Given the description of an element on the screen output the (x, y) to click on. 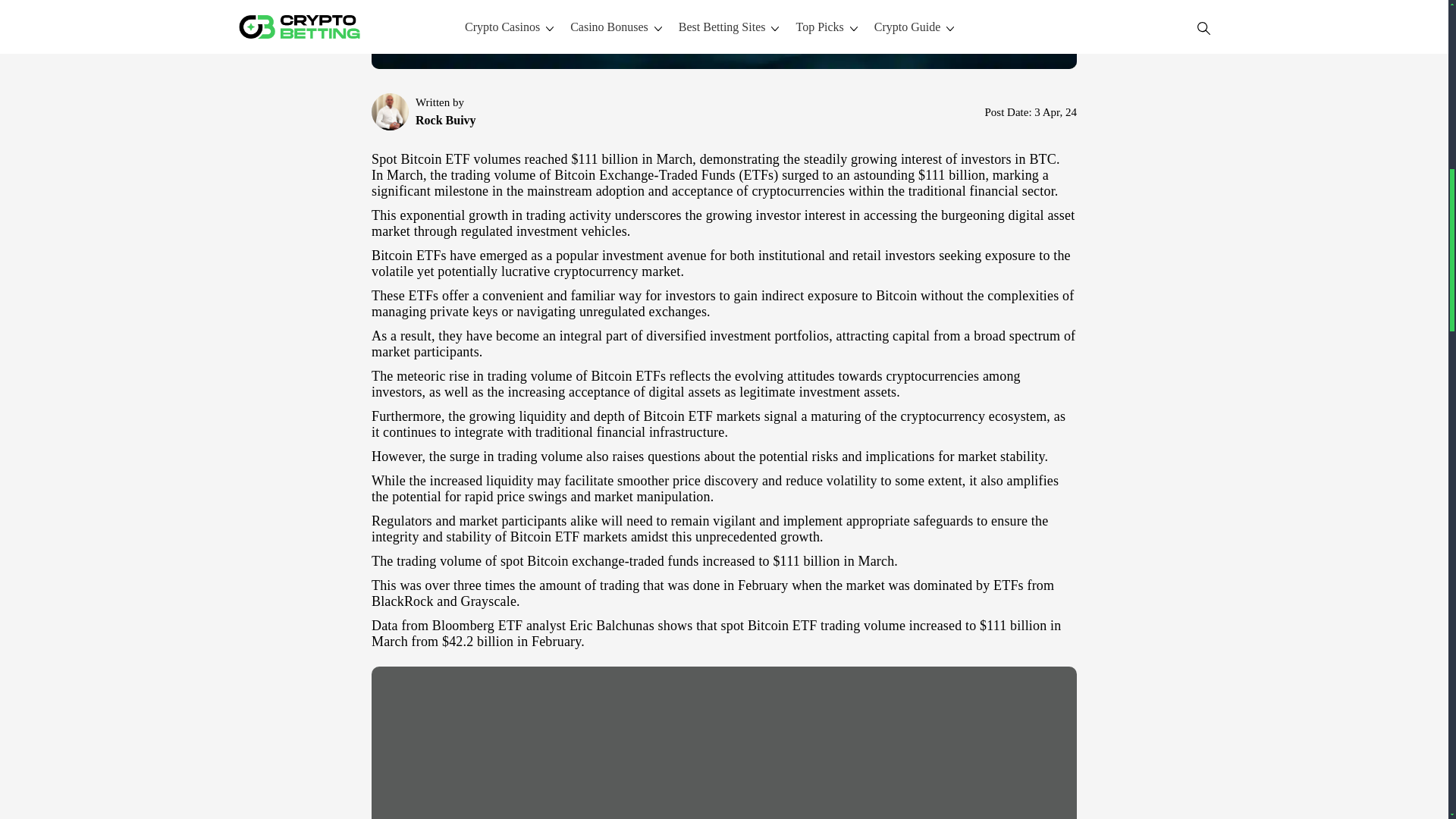
Eric Balchunas about Bitcoin ETFs trade (724, 742)
